Given the description of an element on the screen output the (x, y) to click on. 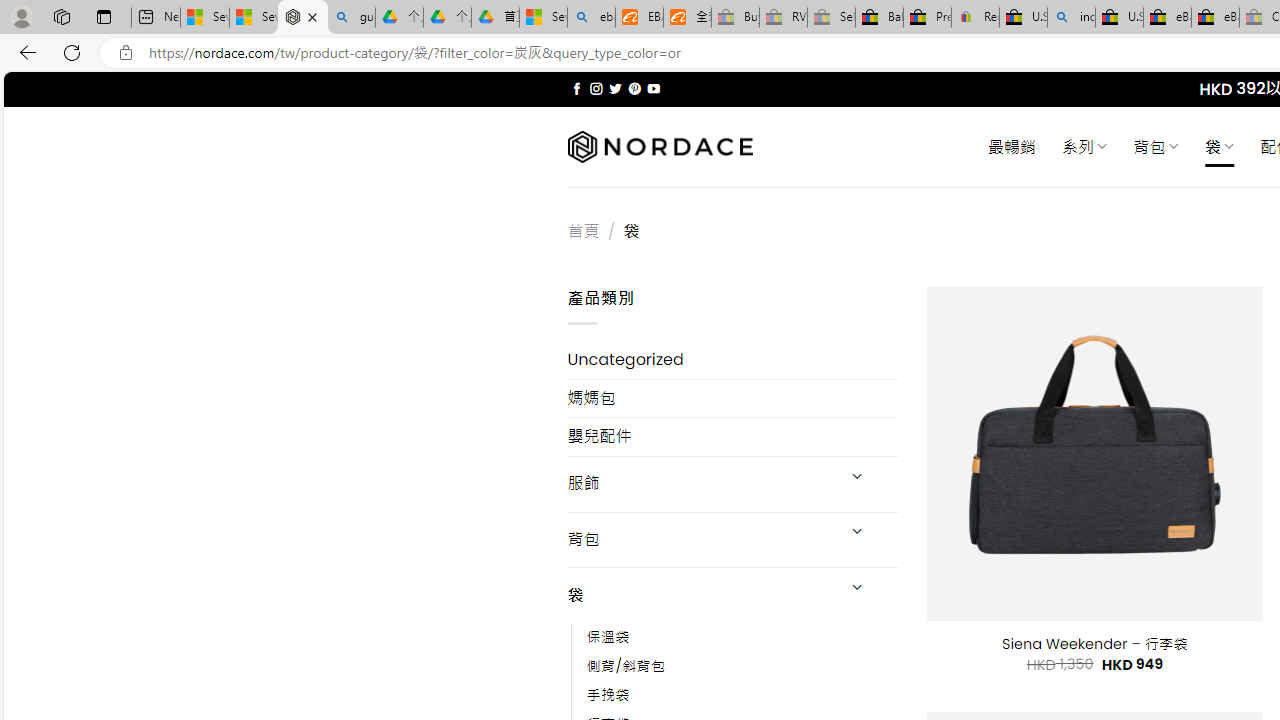
Uncategorized (732, 359)
eBay Inc. Reports Third Quarter 2023 Results (1215, 17)
guge yunpan - Search (351, 17)
Register: Create a personal eBay account (975, 17)
